Given the description of an element on the screen output the (x, y) to click on. 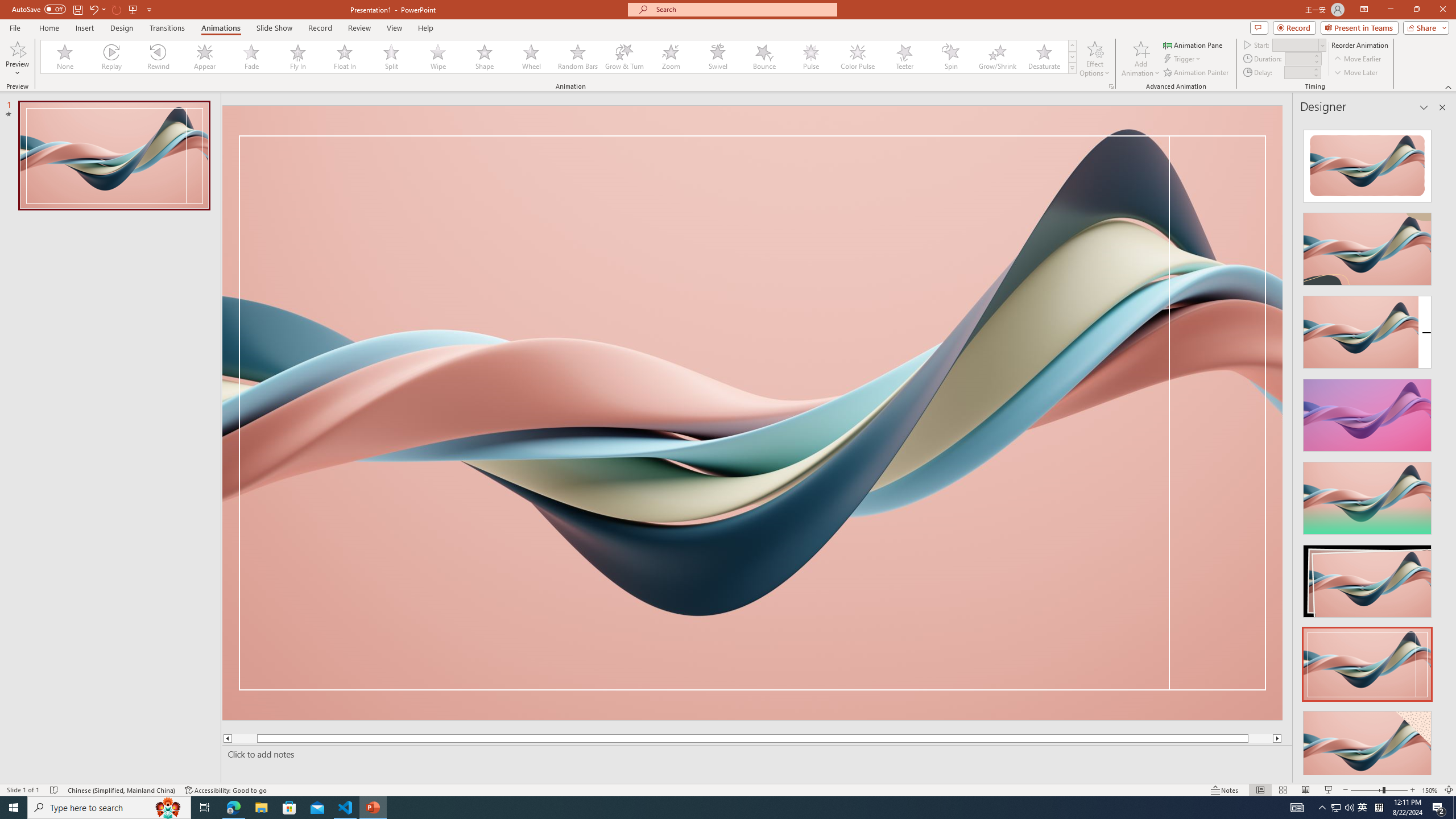
Desaturate (1043, 56)
Animation Delay (1297, 72)
Grow & Turn (624, 56)
Animation Pane (1193, 44)
